Given the description of an element on the screen output the (x, y) to click on. 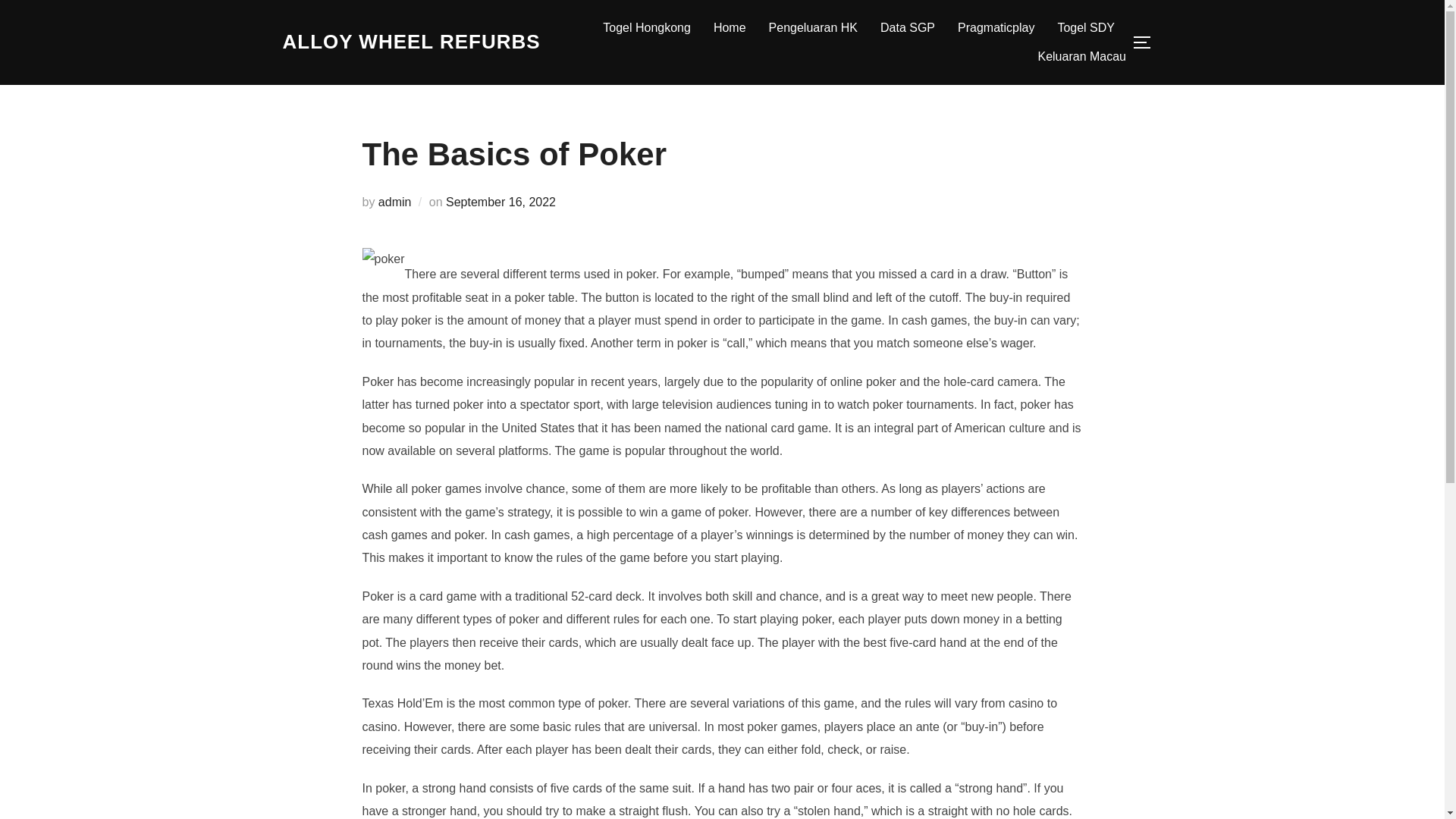
Pengeluaran HK (812, 27)
Data SGP (907, 27)
Pragmaticplay (995, 27)
admin (395, 201)
Togel SDY (1086, 27)
Keluaran Macau (1080, 56)
Togel Hongkong (646, 27)
September 16, 2022 (500, 201)
Home (729, 27)
ALLOY WHEEL REFURBS (411, 41)
